Given the description of an element on the screen output the (x, y) to click on. 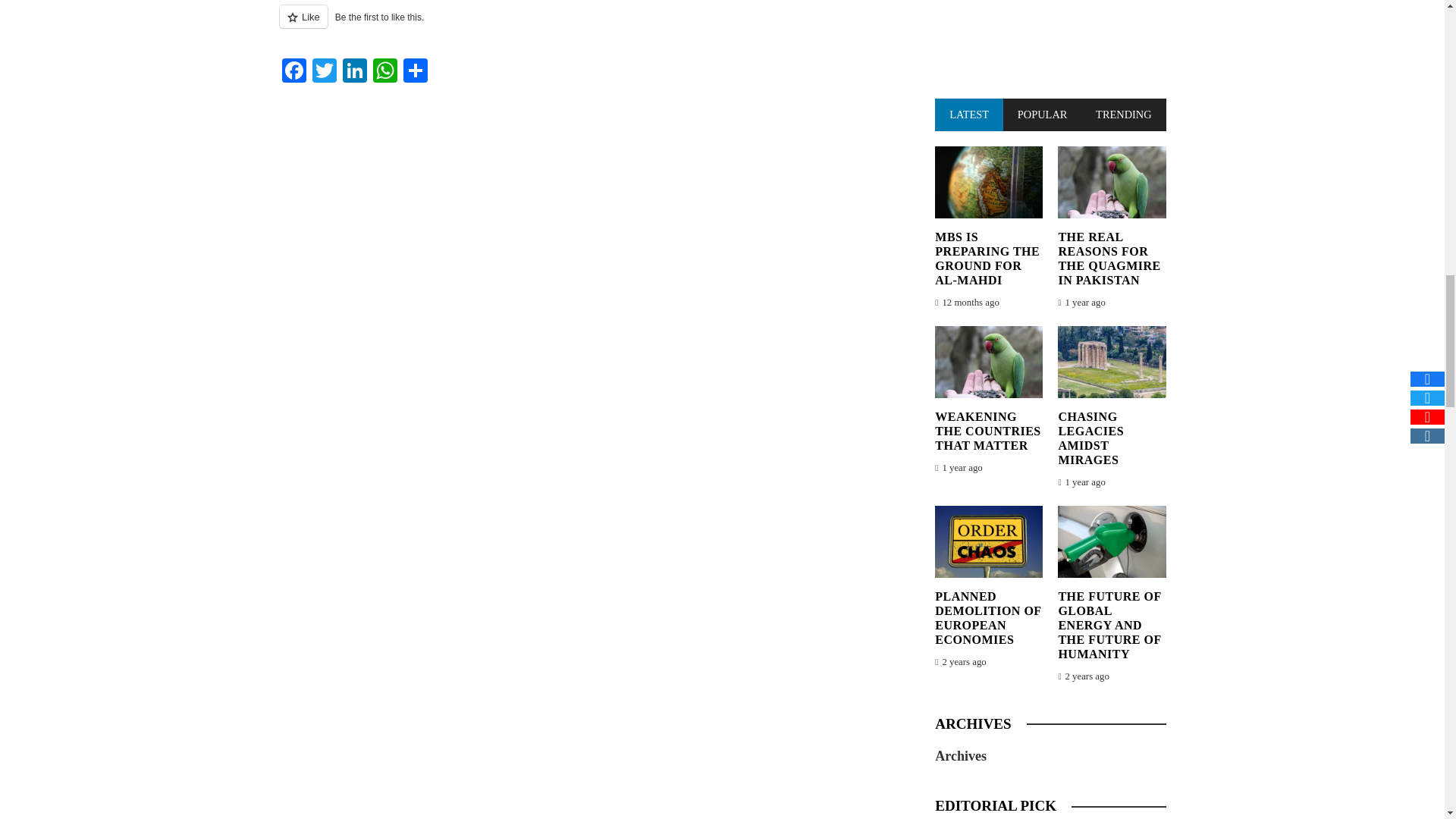
LinkedIn (354, 72)
WhatsApp (384, 72)
THE REAL REASONS FOR THE QUAGMIRE IN PAKISTAN (1109, 258)
LinkedIn (354, 72)
Facebook (293, 72)
WEAKENING THE COUNTRIES THAT MATTER (987, 431)
Facebook (293, 72)
WhatsApp (384, 72)
Like or Reblog (589, 24)
MBS IS PREPARING THE GROUND FOR AL-MAHDI (986, 258)
